Given the description of an element on the screen output the (x, y) to click on. 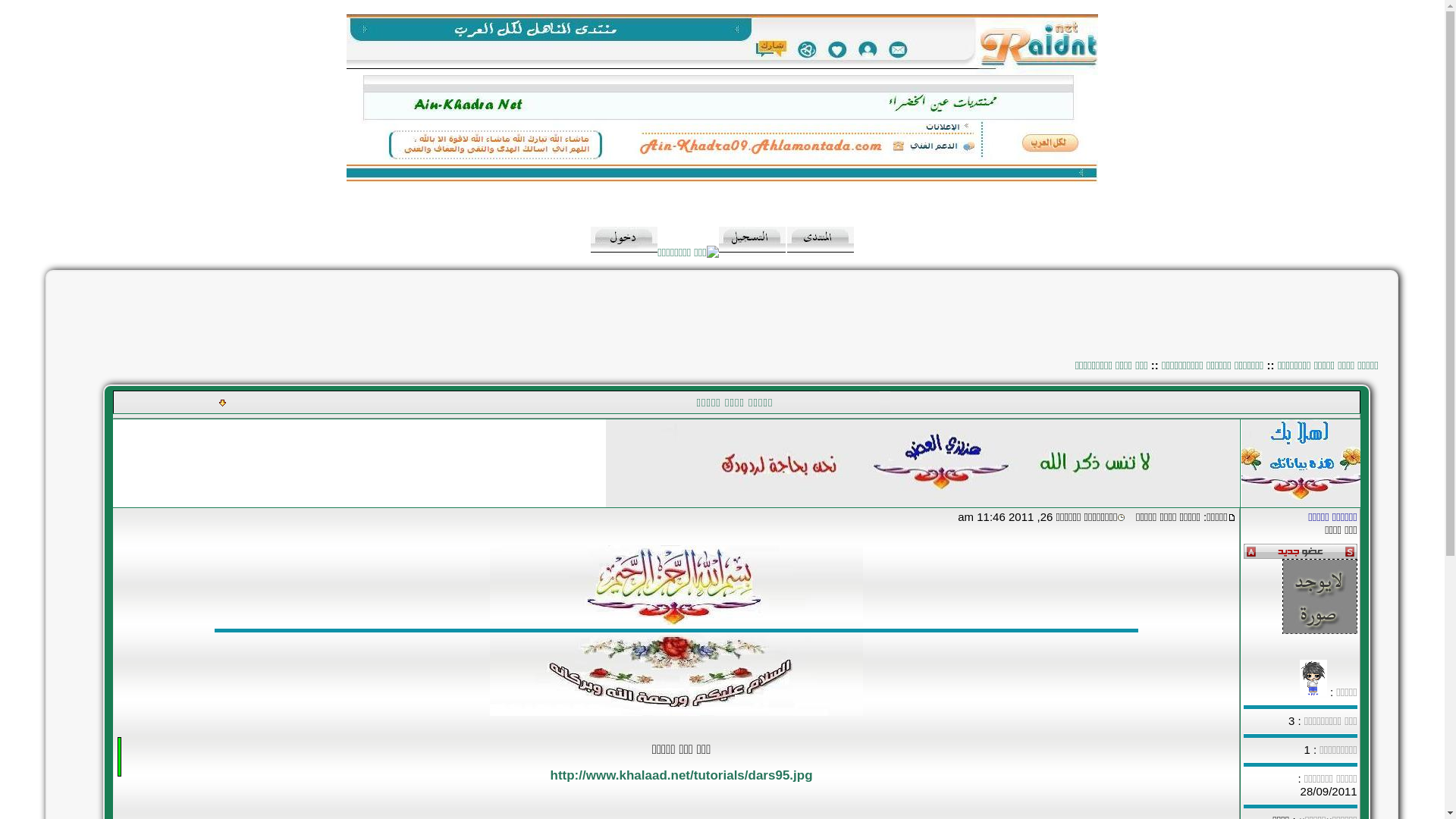
http://www.khalaad.net/tutorials/dars95.jpg Element type: text (681, 775)
